Given the description of an element on the screen output the (x, y) to click on. 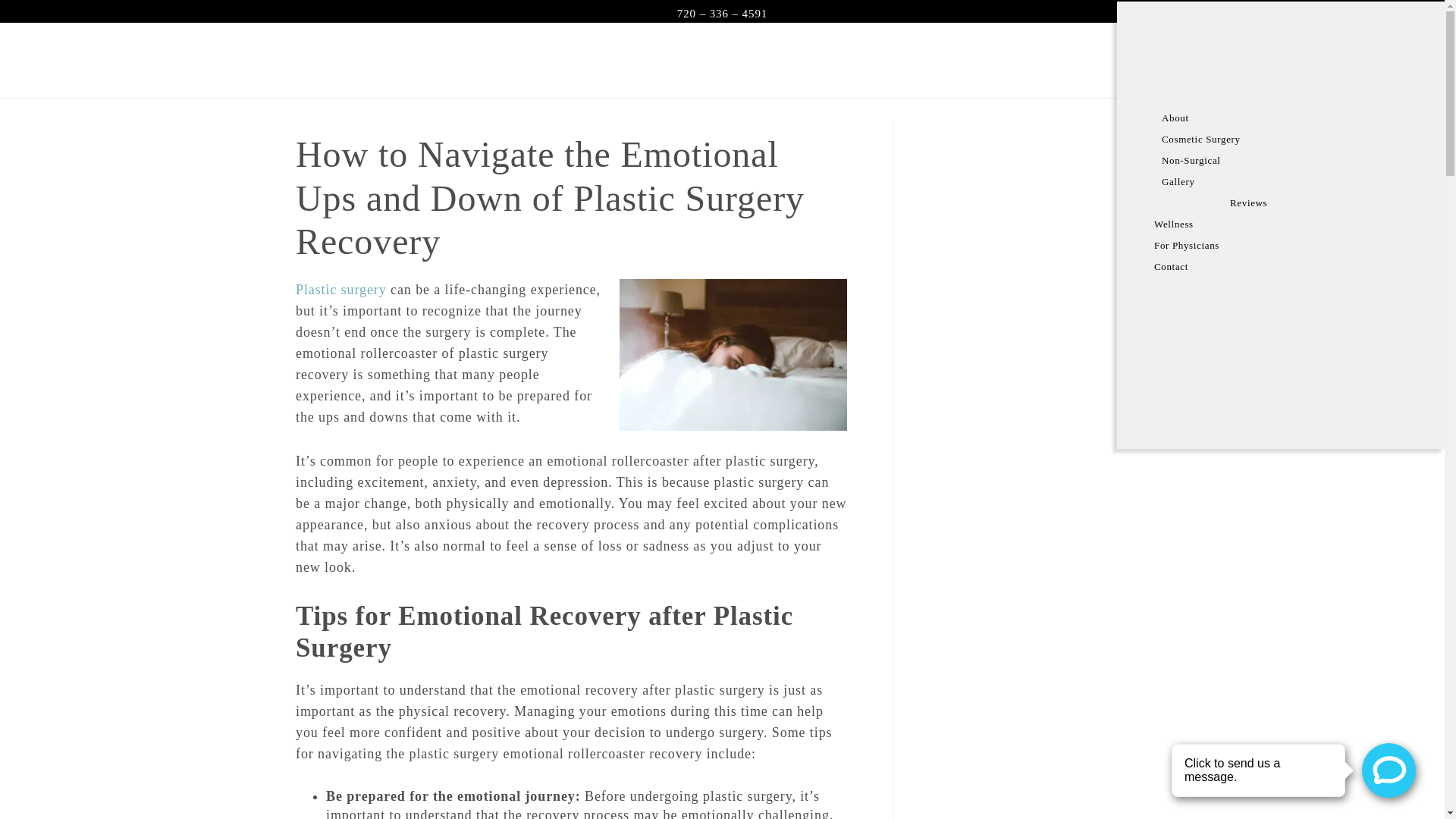
About (1289, 117)
Cosmetic Surgery (1289, 138)
COSMETIC PLASTIC SURGERY IN DENVER, COLORADO (733, 60)
